Given the description of an element on the screen output the (x, y) to click on. 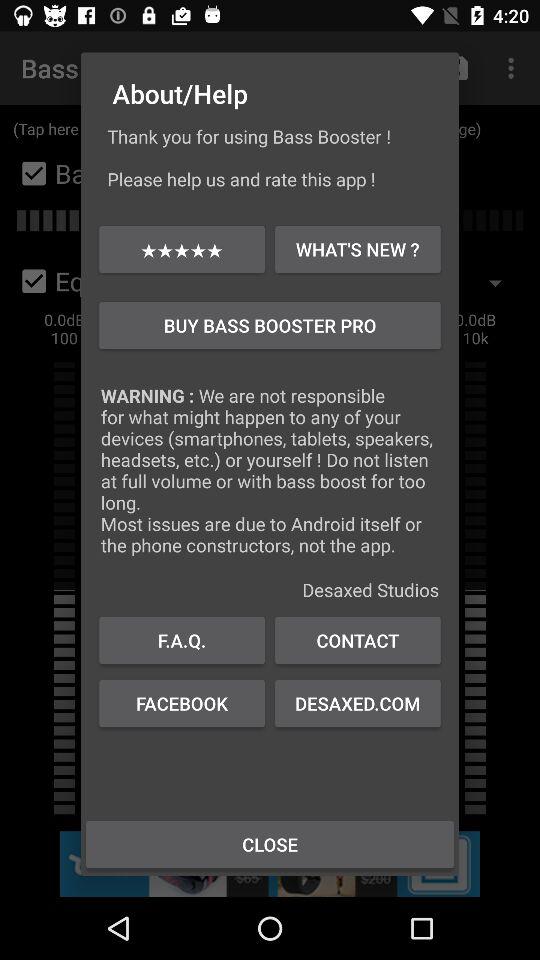
jump until what's new ? (357, 248)
